Given the description of an element on the screen output the (x, y) to click on. 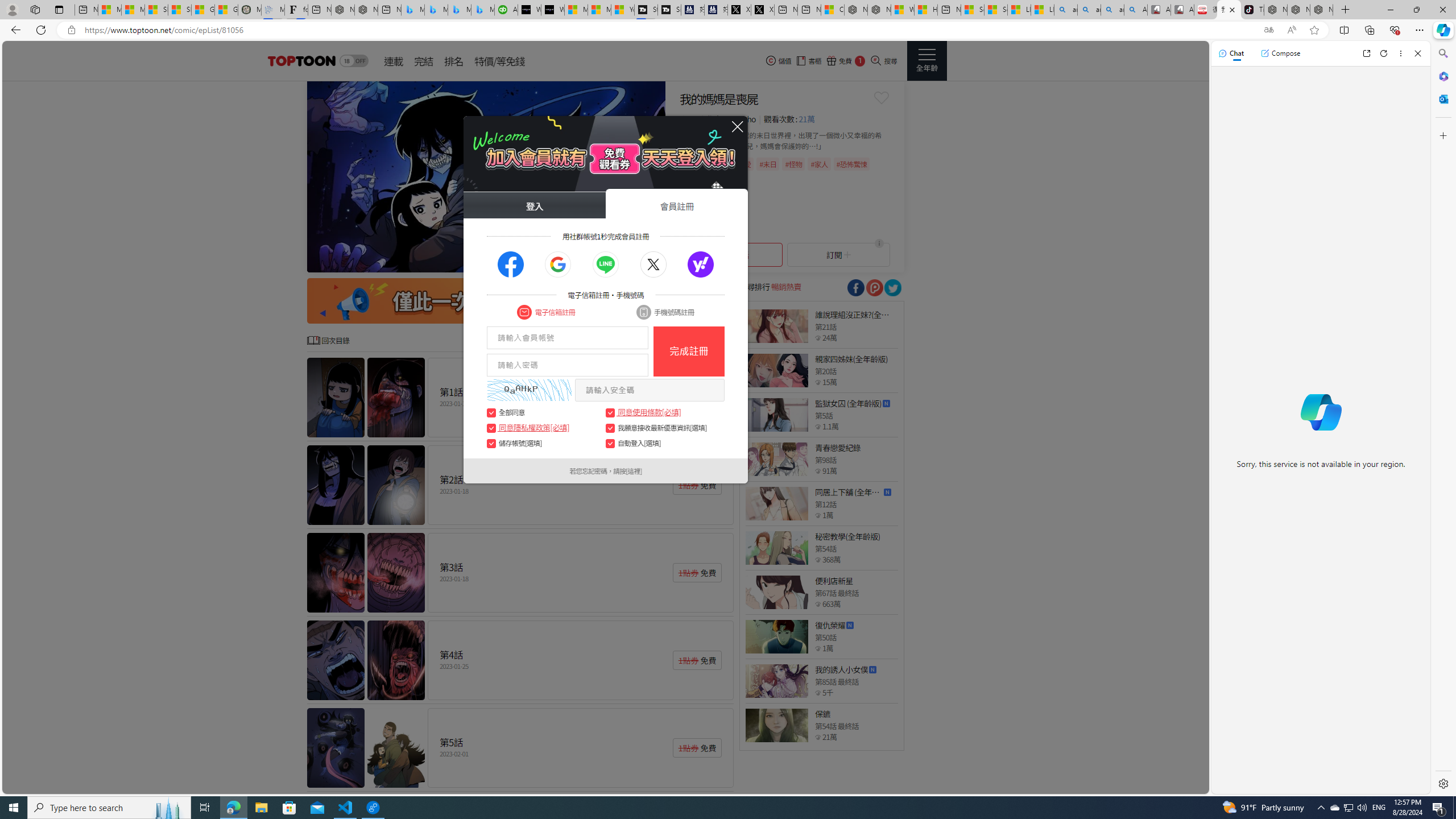
Go to slide 1 (569, 261)
Chat (1231, 52)
